Given the description of an element on the screen output the (x, y) to click on. 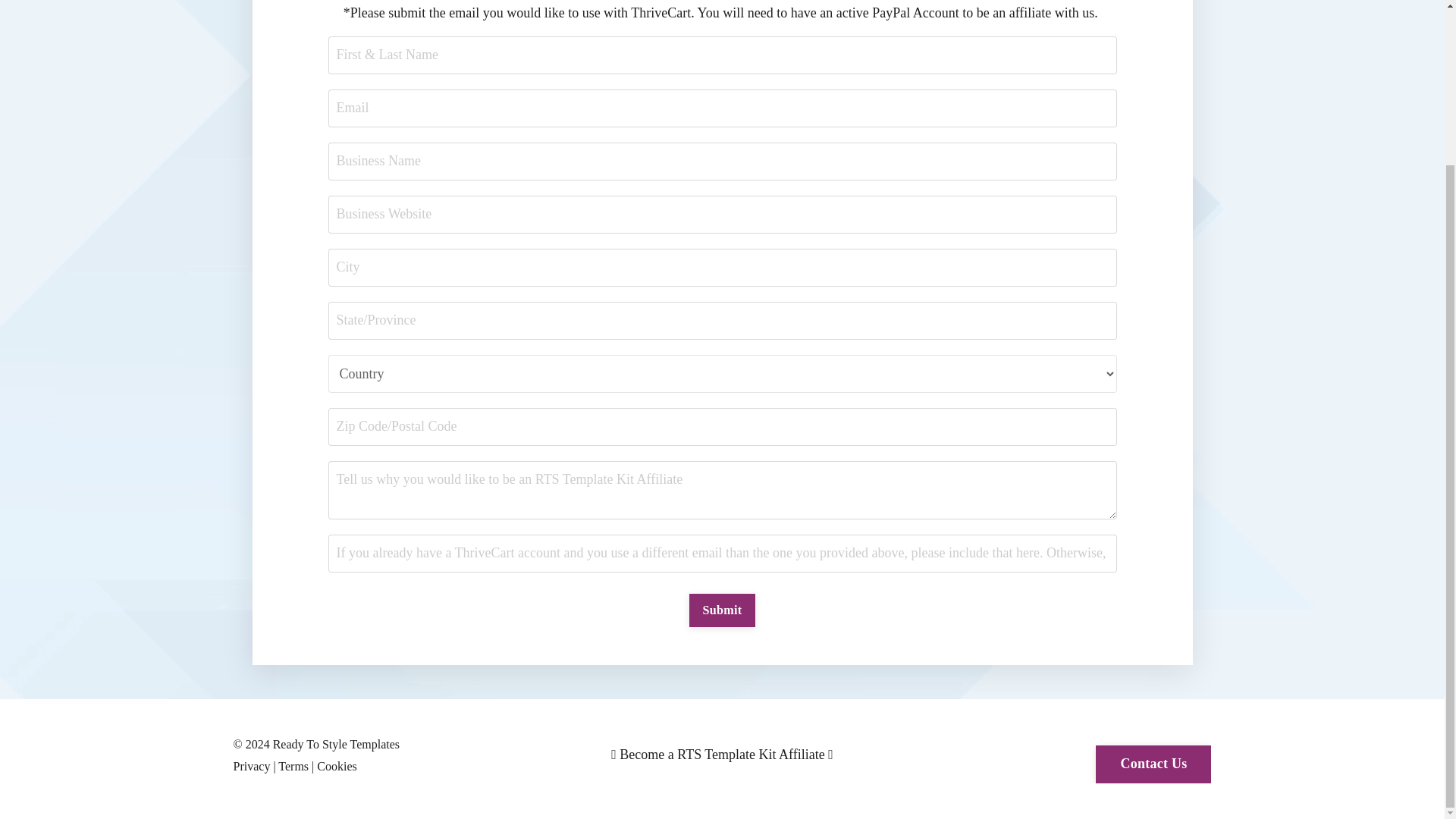
Become a RTS Template Kit Affiliate (721, 754)
Contact Us (1153, 763)
Privacy (251, 766)
Cookies (336, 766)
Terms (293, 766)
Privacy (251, 766)
Cookies (336, 766)
Terms (293, 766)
Submit (721, 610)
